Given the description of an element on the screen output the (x, y) to click on. 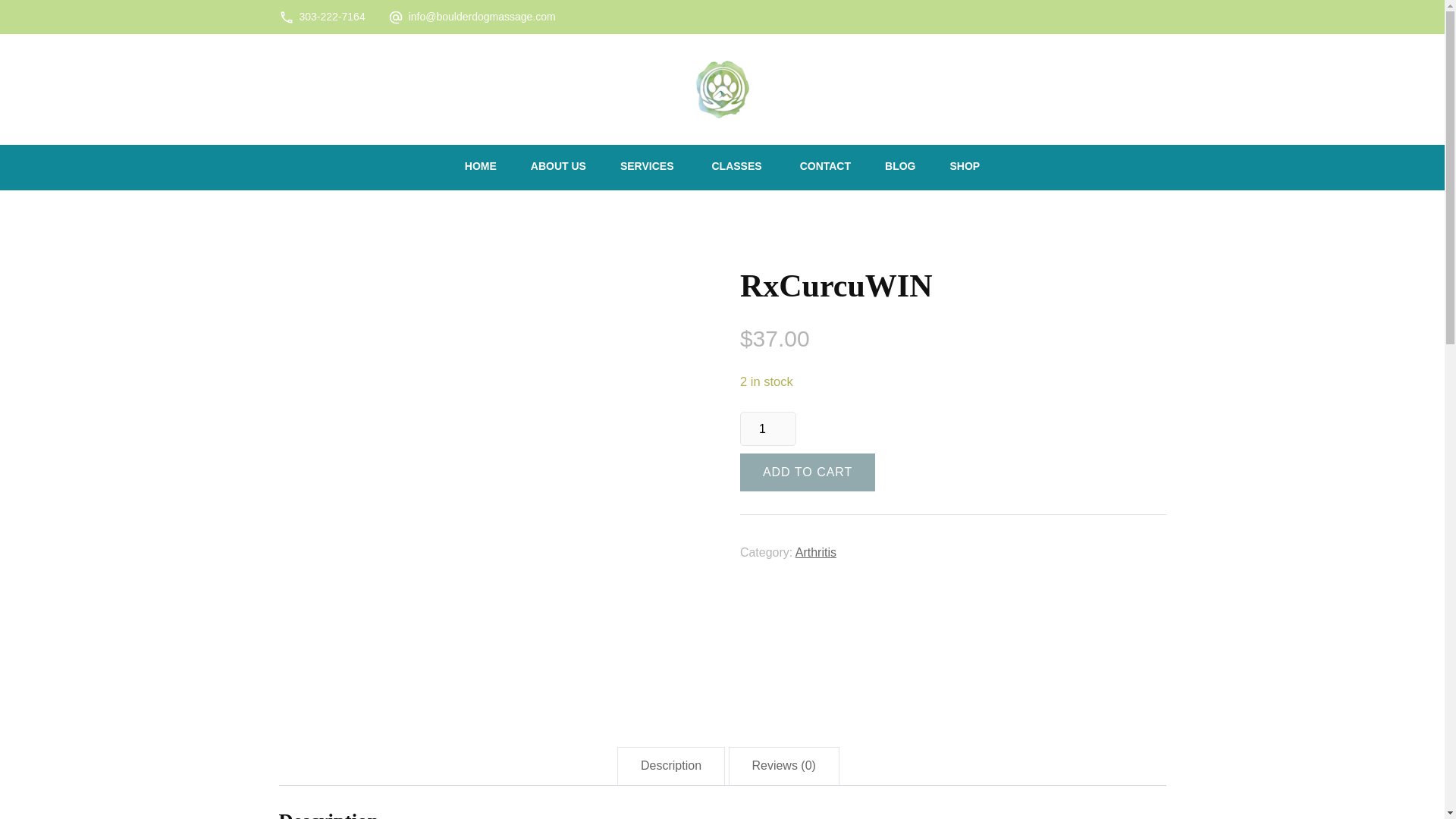
Description (670, 765)
ADD TO CART (807, 472)
CLASSES (735, 167)
SERVICES (646, 167)
HOME (480, 167)
ABOUT US (558, 167)
Peak Animal Wellness and Massage (855, 78)
SHOP (965, 167)
Arthritis (814, 552)
303-222-7164 (331, 16)
BLOG (900, 167)
CONTACT (825, 167)
1 (767, 428)
